Given the description of an element on the screen output the (x, y) to click on. 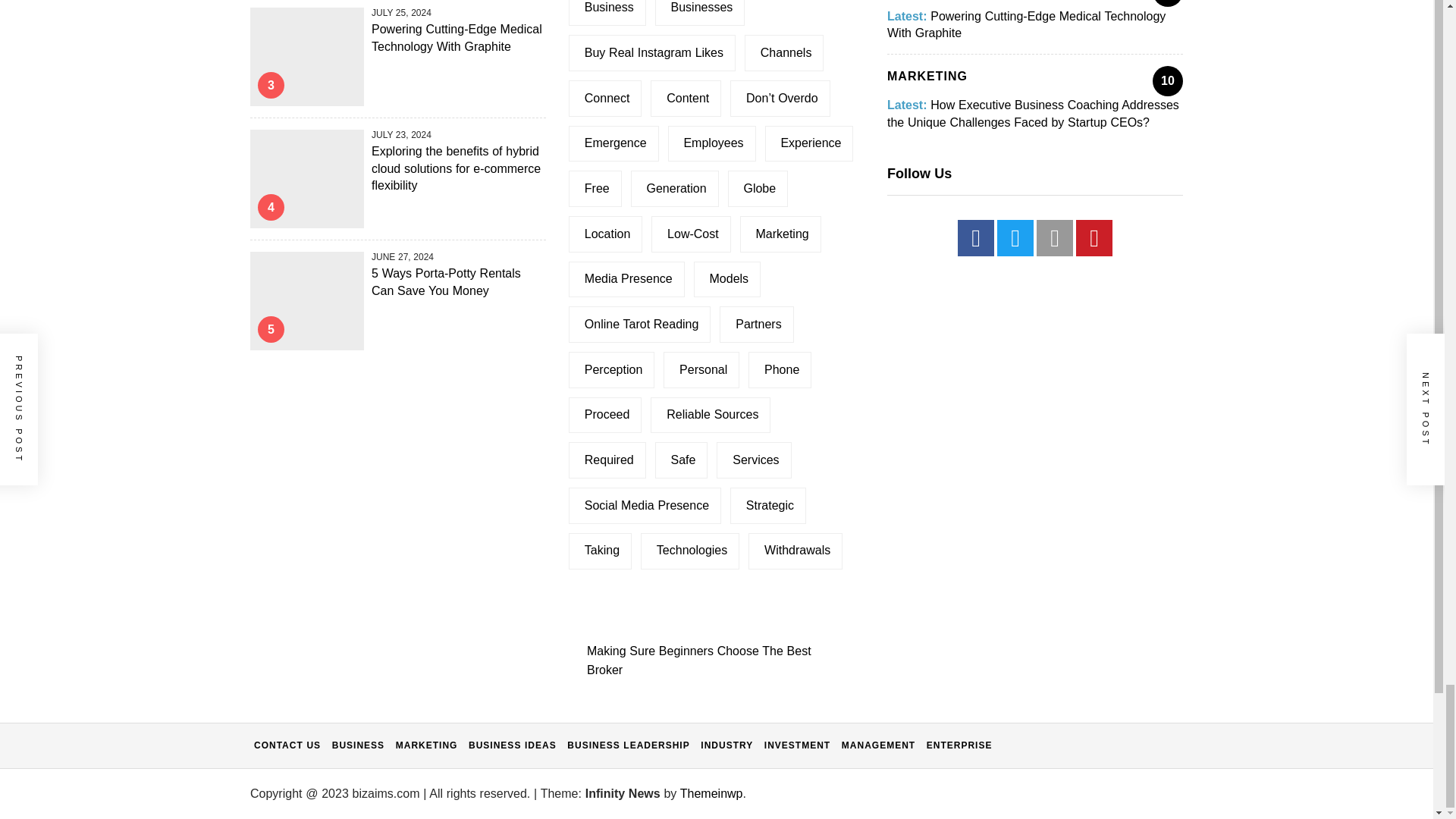
Twitter (1015, 238)
Pinterest (1093, 238)
LinkedIn (1054, 238)
Facebook (976, 238)
